Given the description of an element on the screen output the (x, y) to click on. 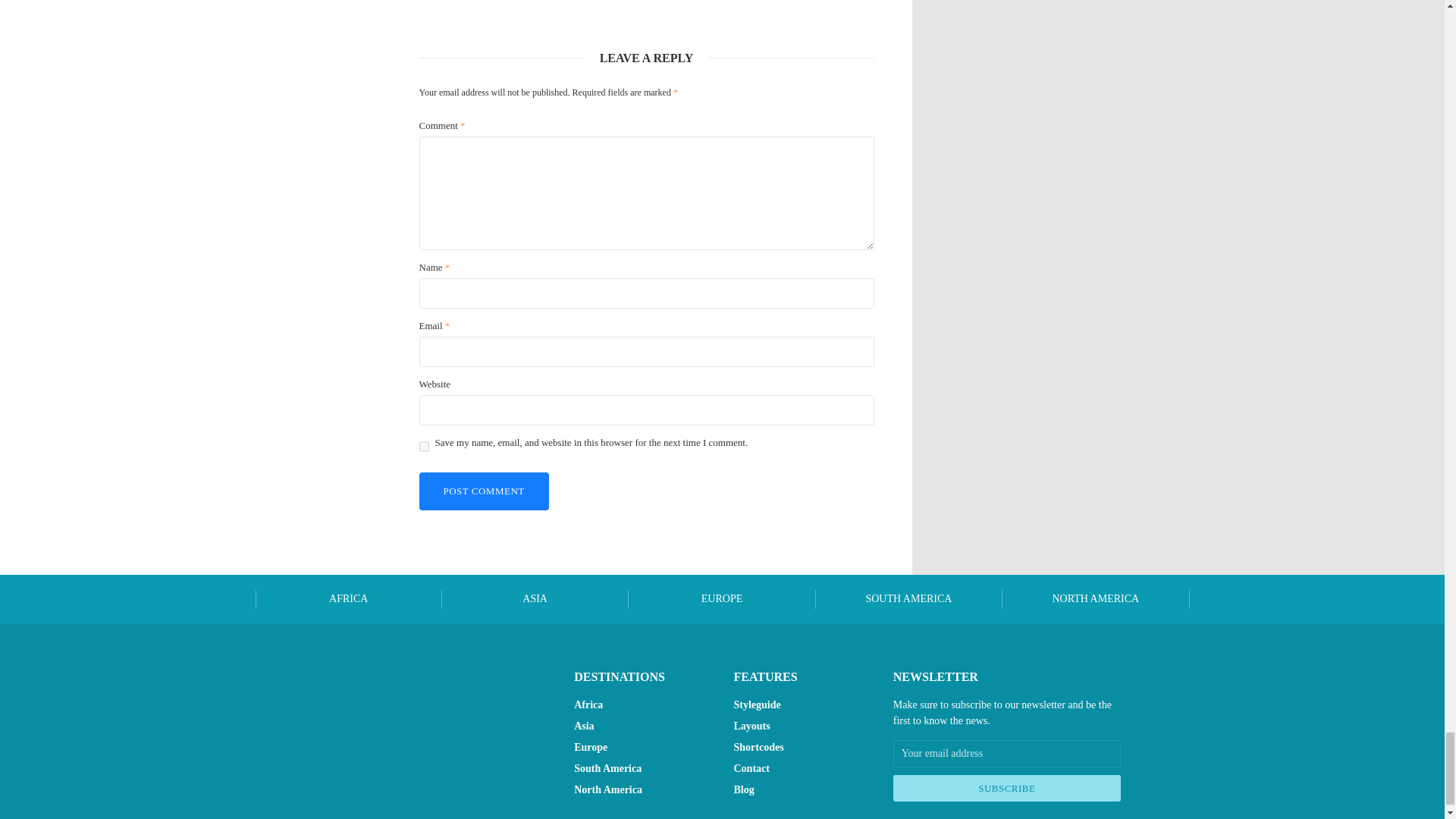
Post Comment (483, 491)
Post Comment (483, 491)
Subscribe (1007, 788)
